Given the description of an element on the screen output the (x, y) to click on. 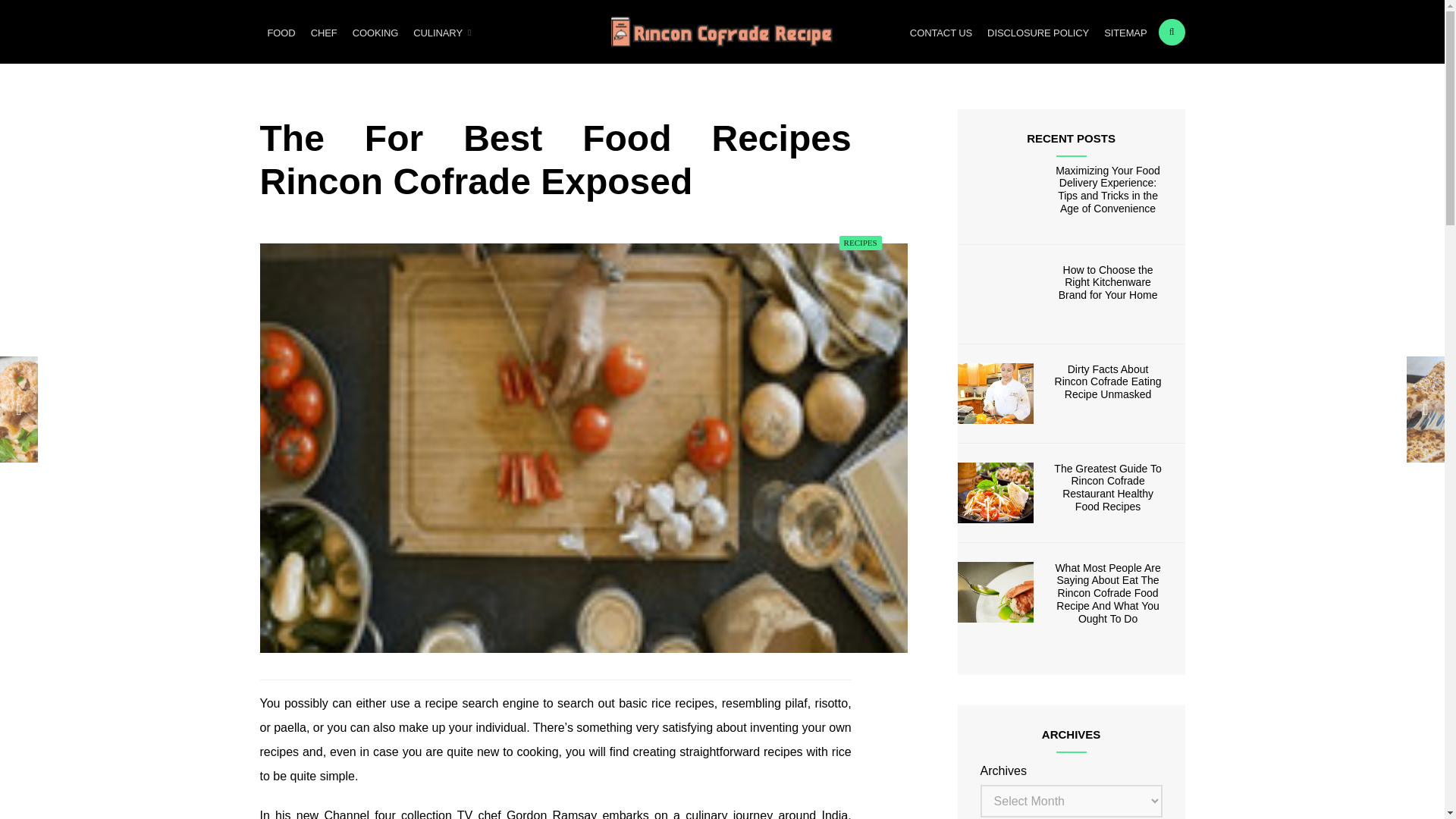
Dirty Facts About Rincon Cofrade Eating Recipe Unmasked (995, 393)
How to Choose the Right Kitchenware Brand for Your Home (995, 293)
FOOD (280, 32)
Dirty Facts About Rincon Cofrade Eating Recipe Unmasked (1107, 382)
DISCLOSURE POLICY (1037, 32)
RECIPES (860, 242)
Dirty Facts About Rincon Cofrade Eating Recipe Unmasked (1107, 382)
RECENT POSTS (1070, 137)
CHEF (323, 32)
CONTACT US (940, 32)
